Given the description of an element on the screen output the (x, y) to click on. 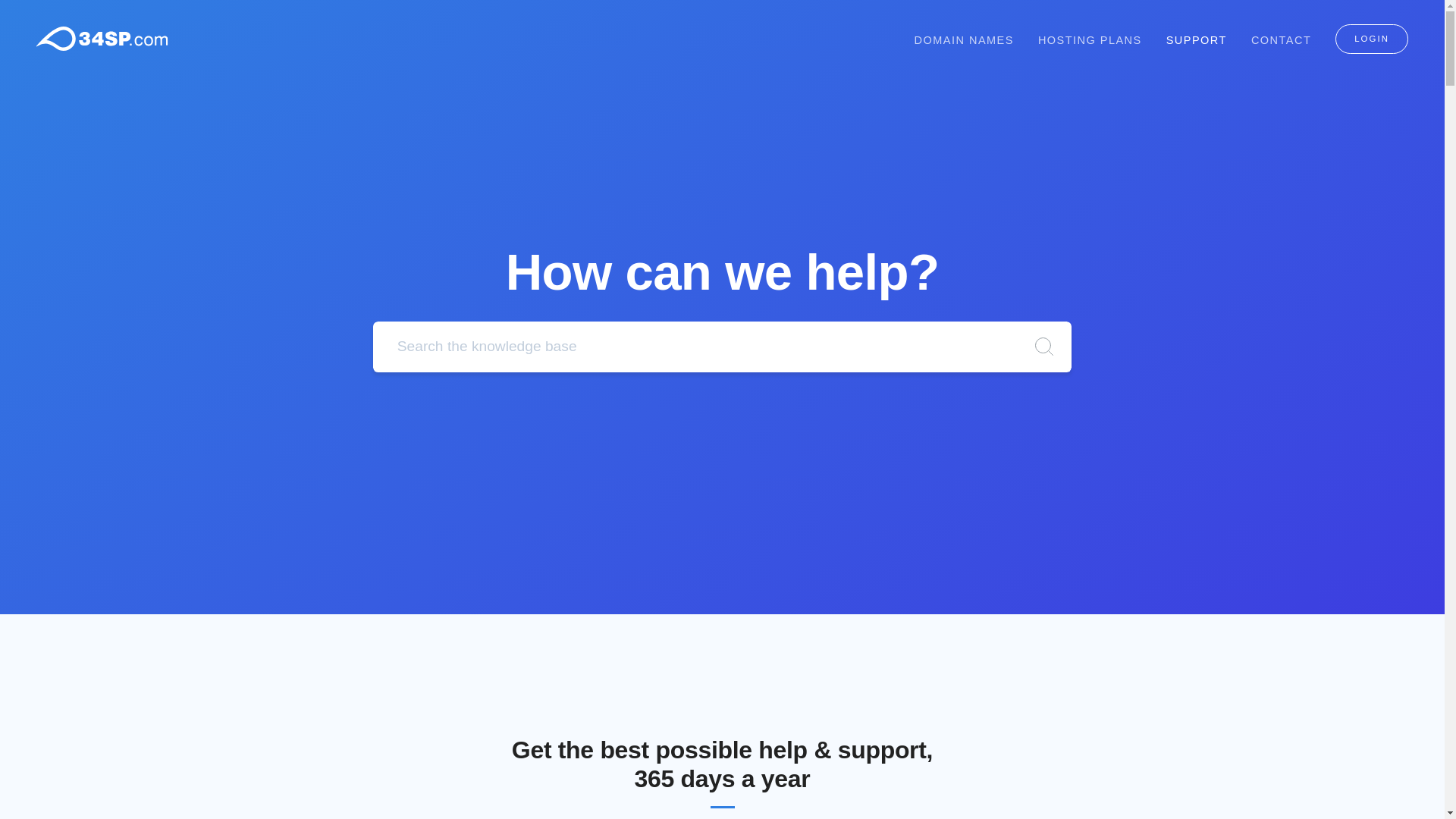
CONTACT Element type: text (1281, 40)
DOMAIN NAMES Element type: text (964, 40)
34SP.com Element type: text (102, 39)
HOSTING PLANS Element type: text (1090, 40)
LOGIN Element type: text (1371, 38)
SUPPORT Element type: text (1196, 40)
